Given the description of an element on the screen output the (x, y) to click on. 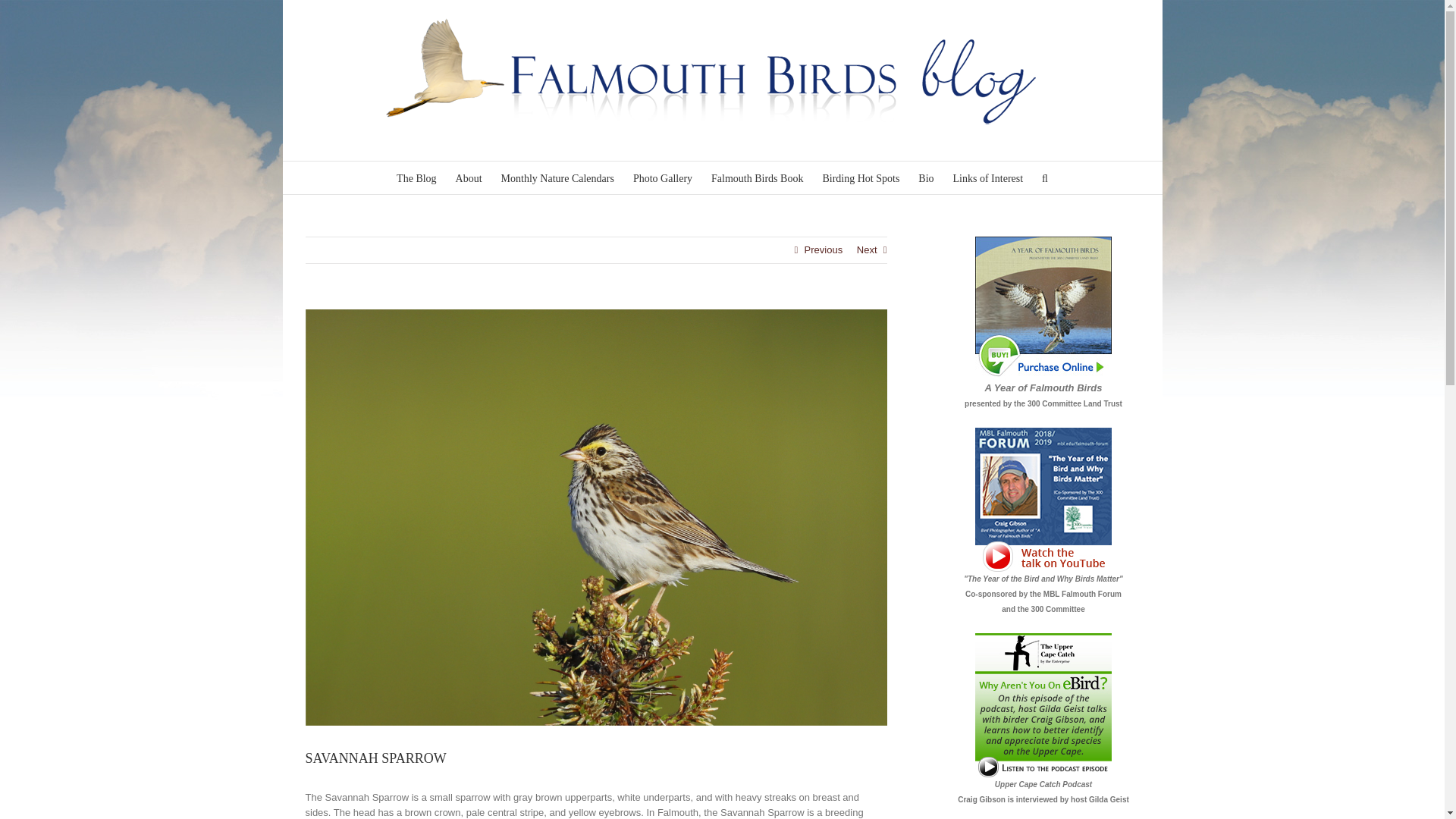
Photo Gallery (663, 177)
Birding Hot Spots (860, 177)
Previous (824, 249)
Falmouth Birds Book (757, 177)
Monthly Nature Calendars (557, 177)
Links of Interest (988, 177)
The Blog (416, 177)
